Given the description of an element on the screen output the (x, y) to click on. 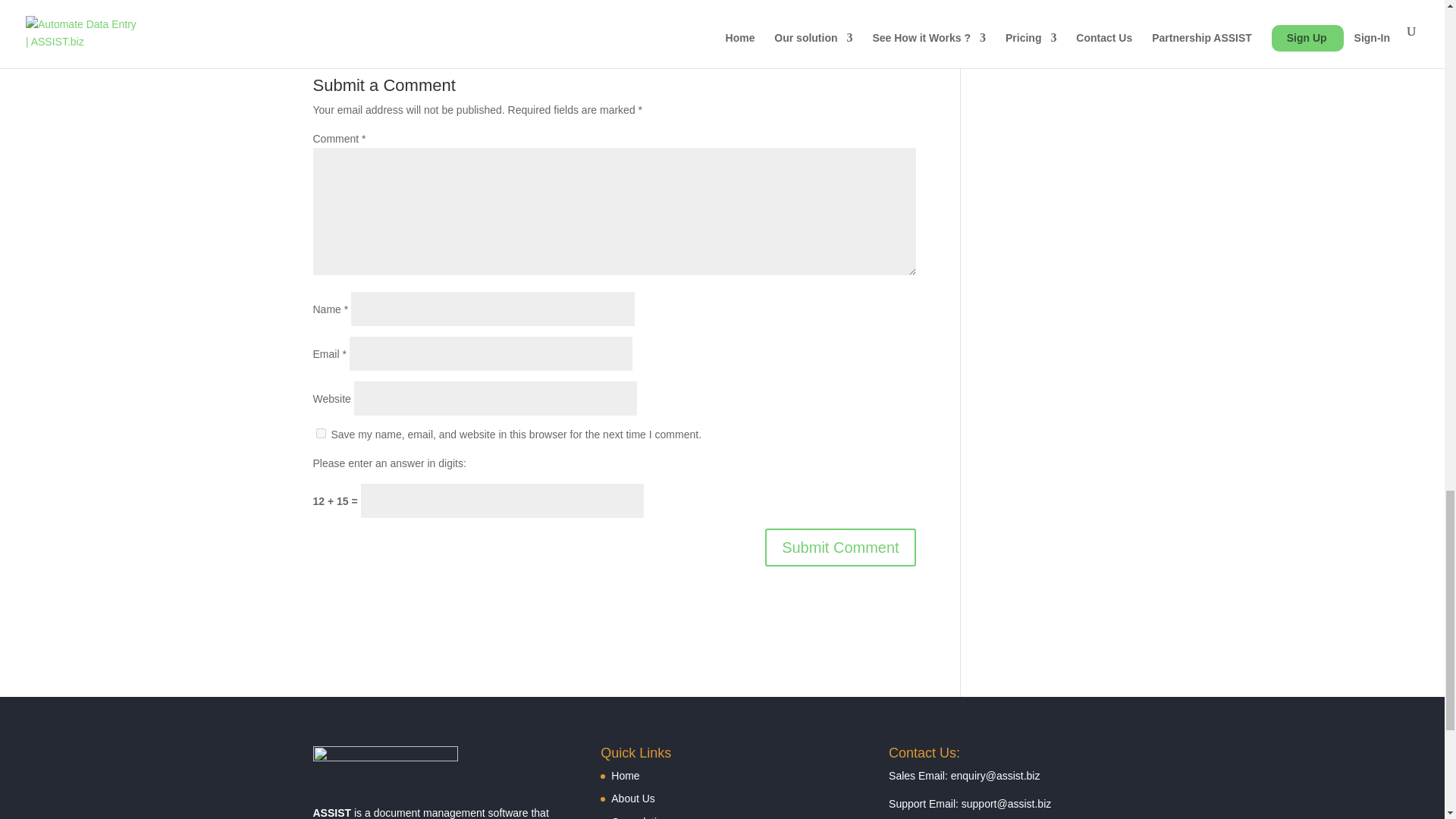
yes (319, 433)
Submit Comment (840, 547)
Submit Comment (840, 547)
